Given the description of an element on the screen output the (x, y) to click on. 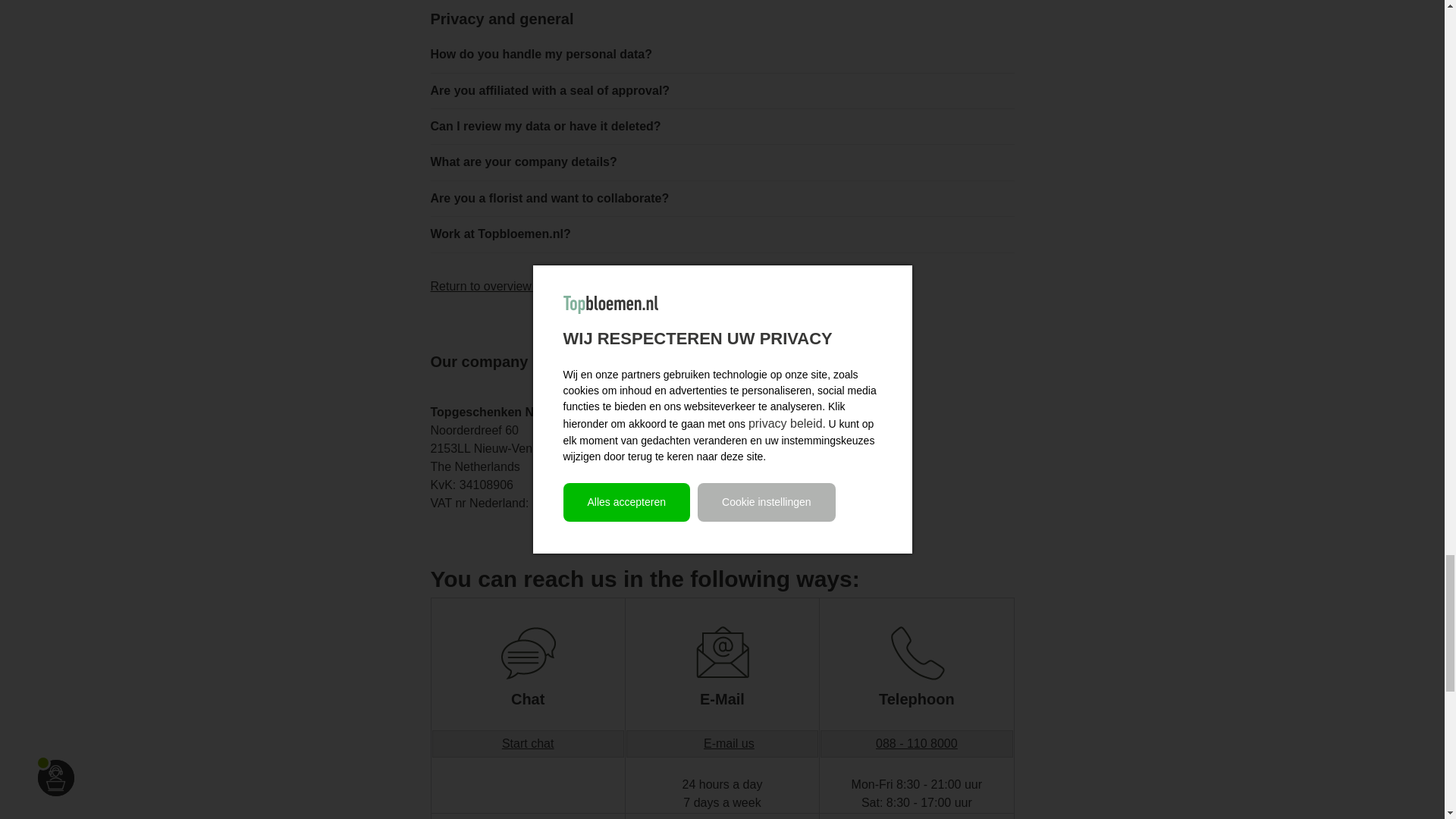
Verder zoeken (485, 286)
